Given the description of an element on the screen output the (x, y) to click on. 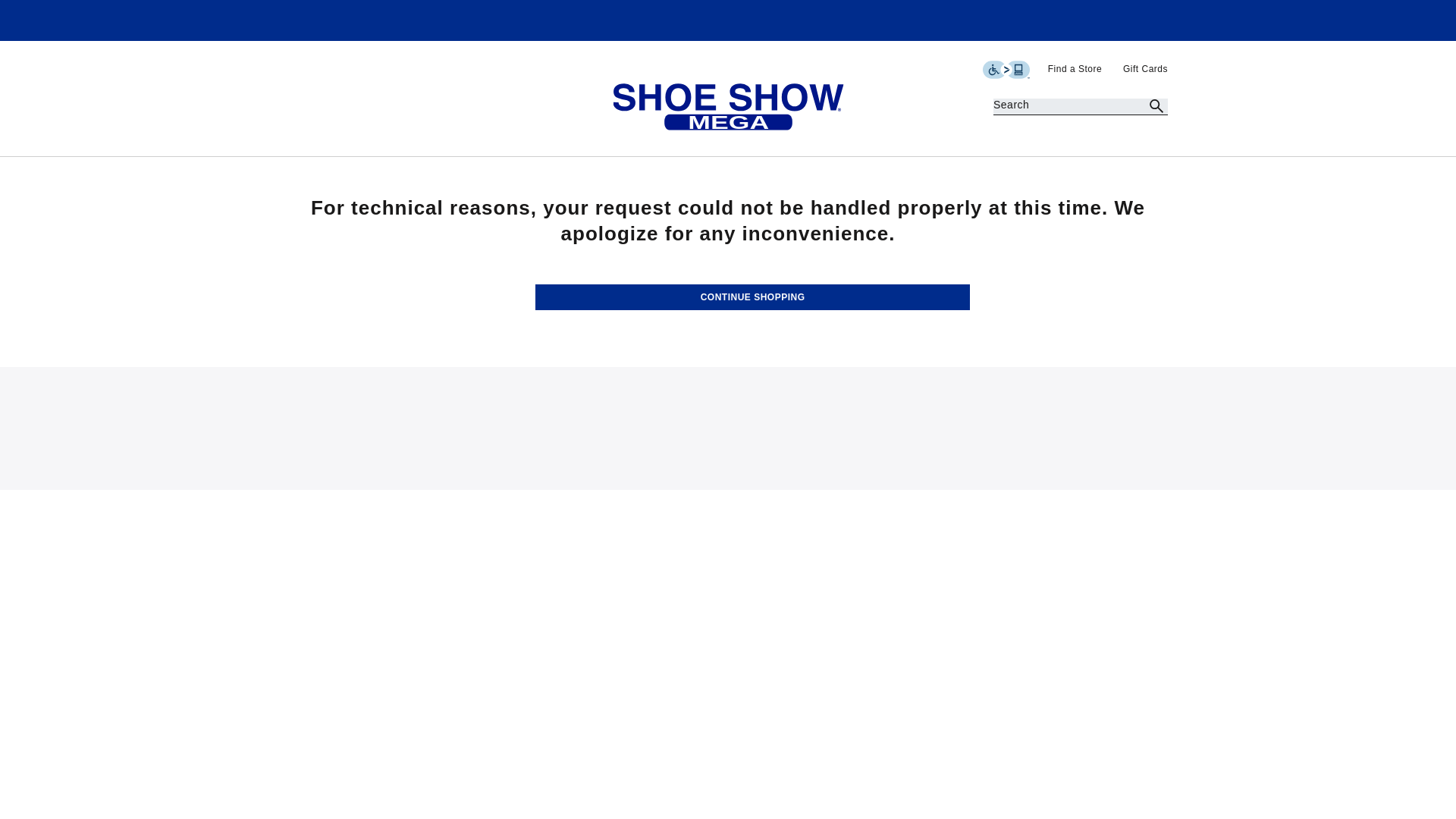
Find a Store (1076, 68)
Gift Cards (1144, 68)
Search (1155, 107)
CONTINUE SHOPPING (752, 297)
